Given the description of an element on the screen output the (x, y) to click on. 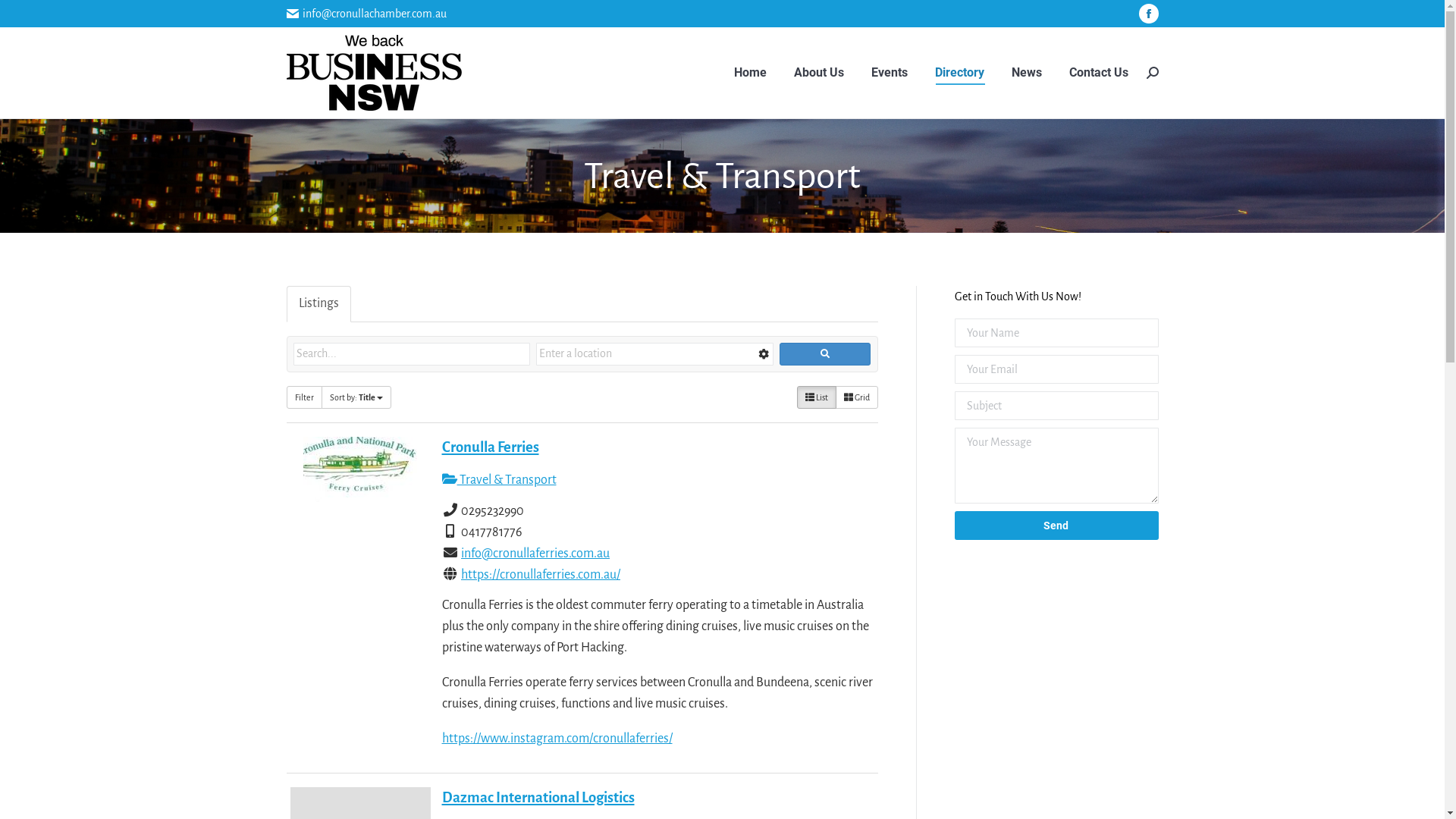
Listings Element type: text (318, 303)
Grid Element type: text (856, 396)
https://www.instagram.com/cronullaferries/ Element type: text (556, 738)
info@cronullachamber.com.au Element type: text (374, 13)
Sort by: Title Element type: text (356, 396)
About Us Element type: text (818, 72)
List Element type: text (815, 396)
Facebook page opens in new window Element type: text (1148, 13)
Go! Element type: text (22, 15)
info@cronullaferries.com.au Element type: text (535, 553)
Directory Element type: text (958, 72)
Travel & Transport Element type: text (498, 479)
Events Element type: text (888, 72)
Send Element type: text (1055, 525)
Filter Element type: text (304, 396)
Home Element type: text (750, 72)
Contact Us Element type: text (1098, 72)
https://cronullaferries.com.au/ Element type: text (540, 574)
News Element type: text (1026, 72)
Dazmac International Logistics Element type: text (537, 797)
Cronulla Ferries Element type: text (489, 447)
